Given the description of an element on the screen output the (x, y) to click on. 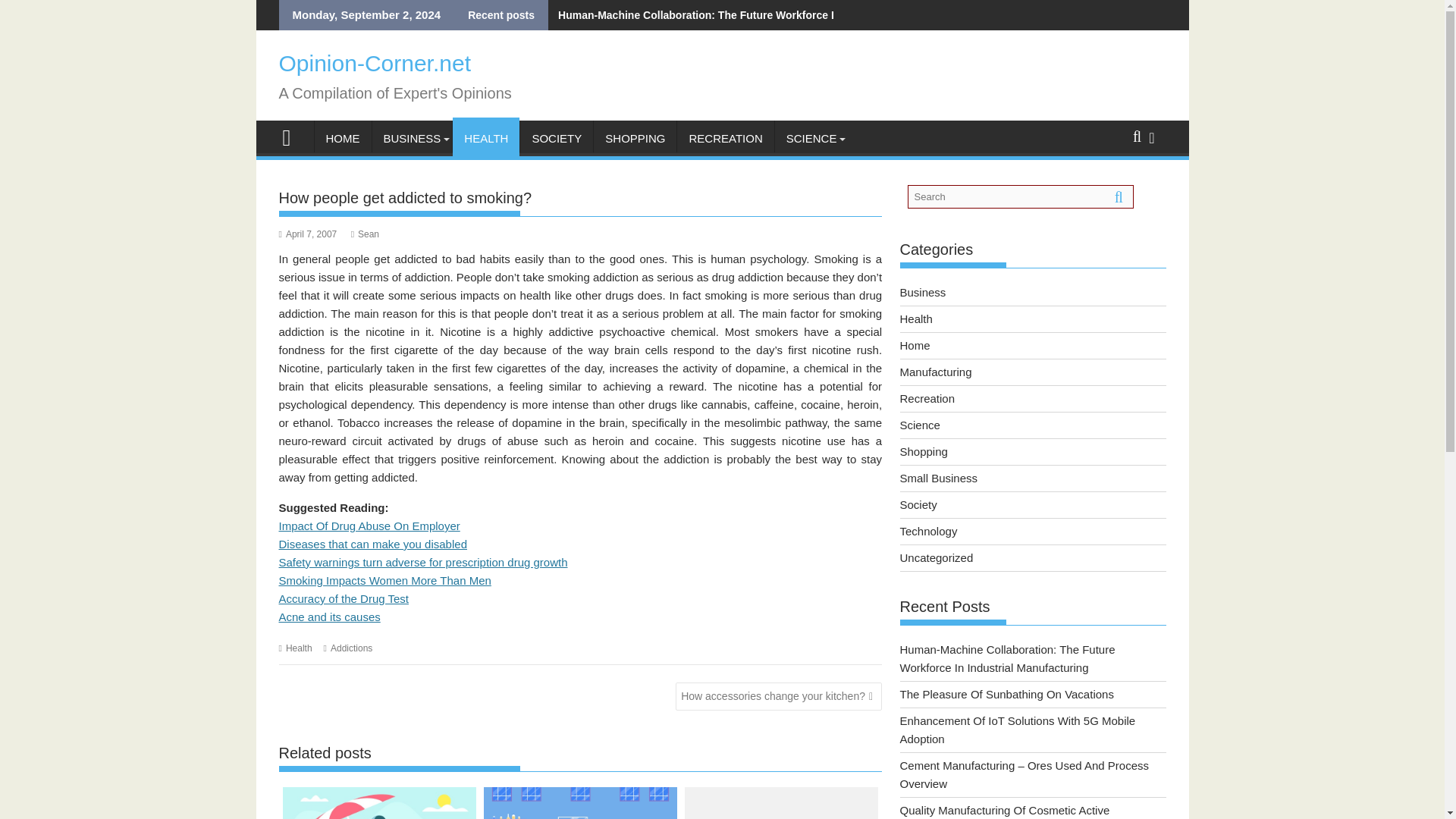
Sean (364, 234)
Safety warnings turn adverse for prescription drug growth (423, 562)
Opinion-Corner.net (293, 136)
Accuracy of the Drug Test (344, 598)
SOCIETY (555, 138)
Diseases that can make you disabled (373, 543)
RECREATION (725, 138)
April 7, 2007 (308, 234)
Opinion-Corner.net (374, 63)
